Given the description of an element on the screen output the (x, y) to click on. 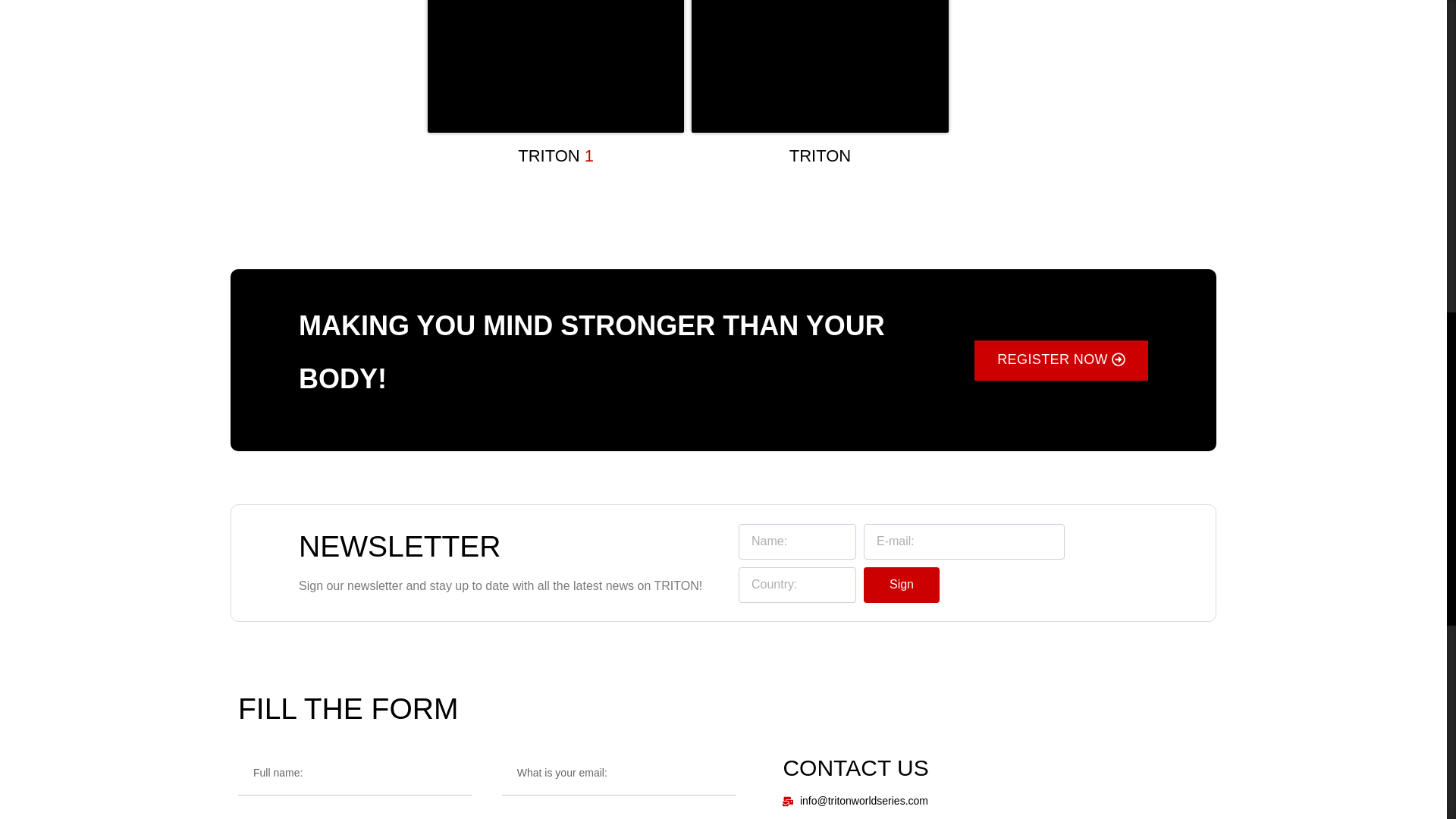
Sign (901, 584)
REGISTER NOW (1061, 360)
